Given the description of an element on the screen output the (x, y) to click on. 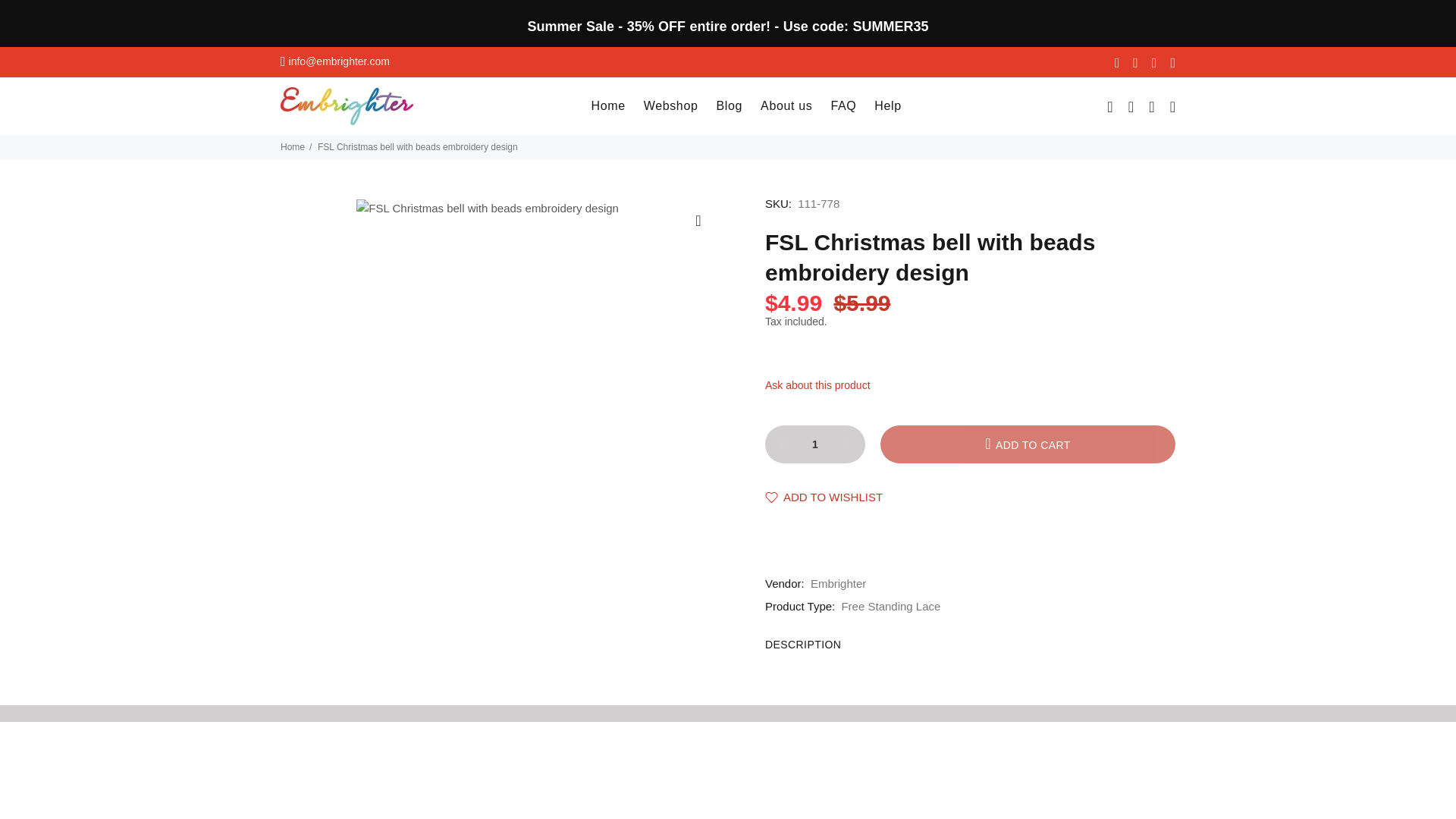
1 (814, 444)
